Given the description of an element on the screen output the (x, y) to click on. 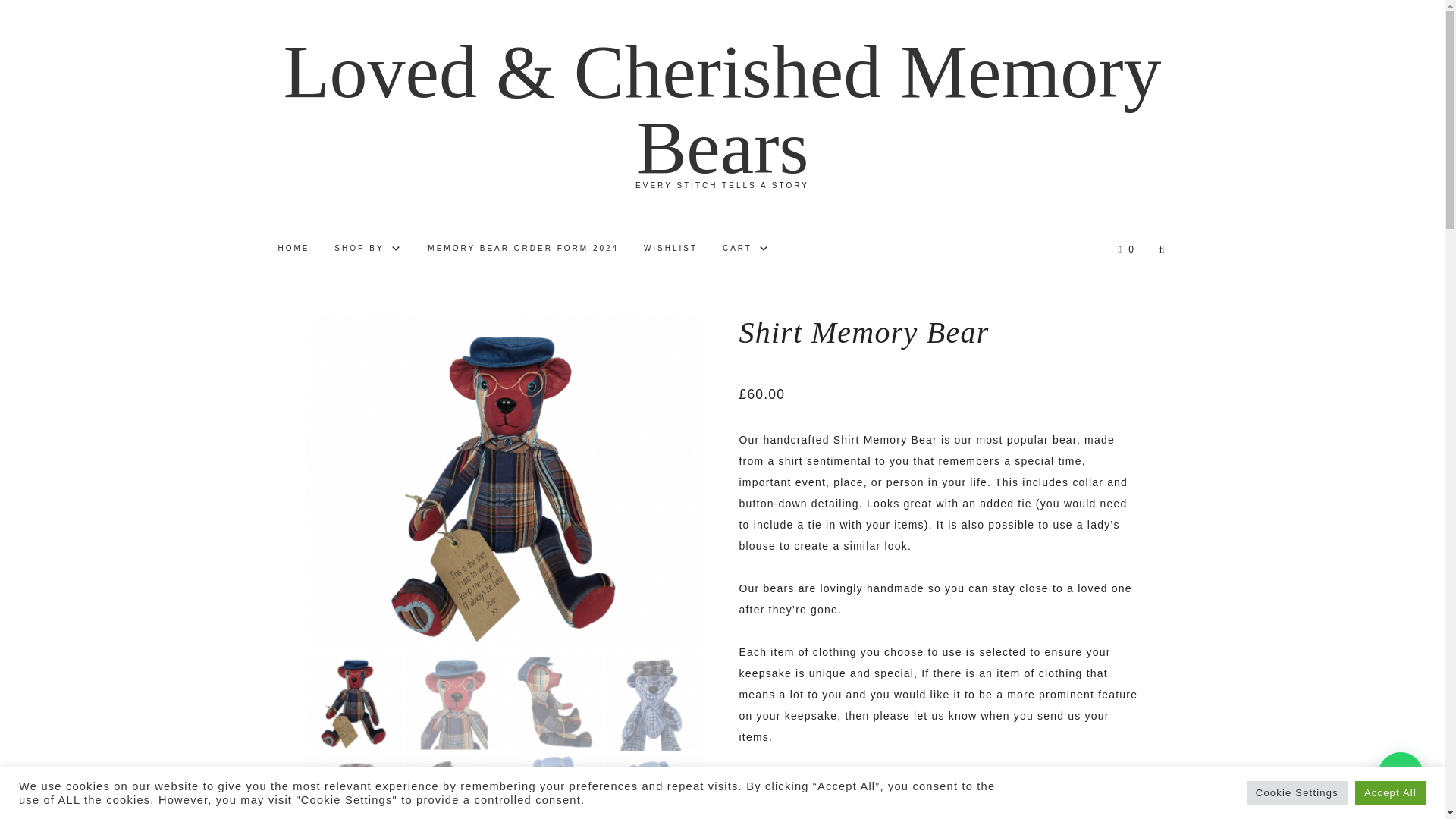
WISHLIST (670, 248)
MEMORY BEAR ORDER FORM 2024 (522, 248)
0 (1125, 249)
CART (746, 248)
HOME (293, 248)
SHOP BY (368, 248)
Start shopping (1125, 249)
